Given the description of an element on the screen output the (x, y) to click on. 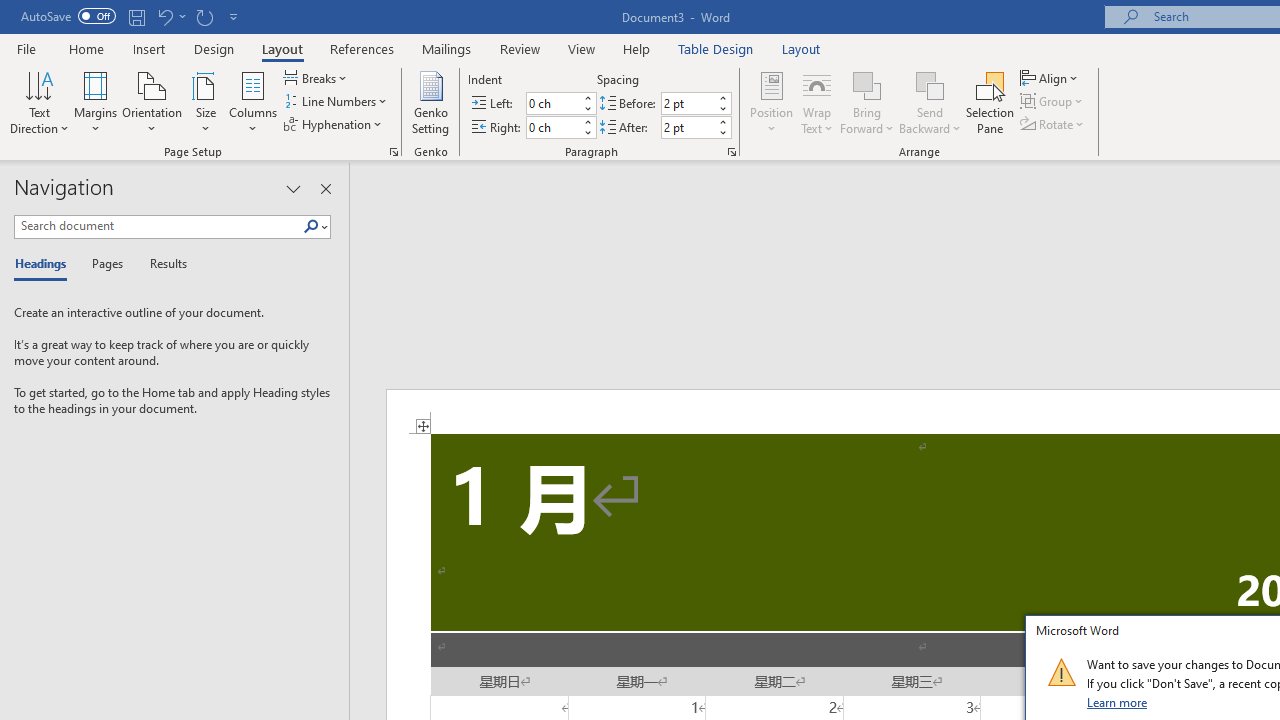
Genko Setting... (430, 102)
Indent Right (552, 127)
Table Design (715, 48)
Wrap Text (817, 102)
Mailings (447, 48)
Undo Increase Indent (164, 15)
Orientation (152, 102)
Paragraph... (731, 151)
AutoSave (68, 16)
Size (205, 102)
Position (771, 102)
References (362, 48)
